Given the description of an element on the screen output the (x, y) to click on. 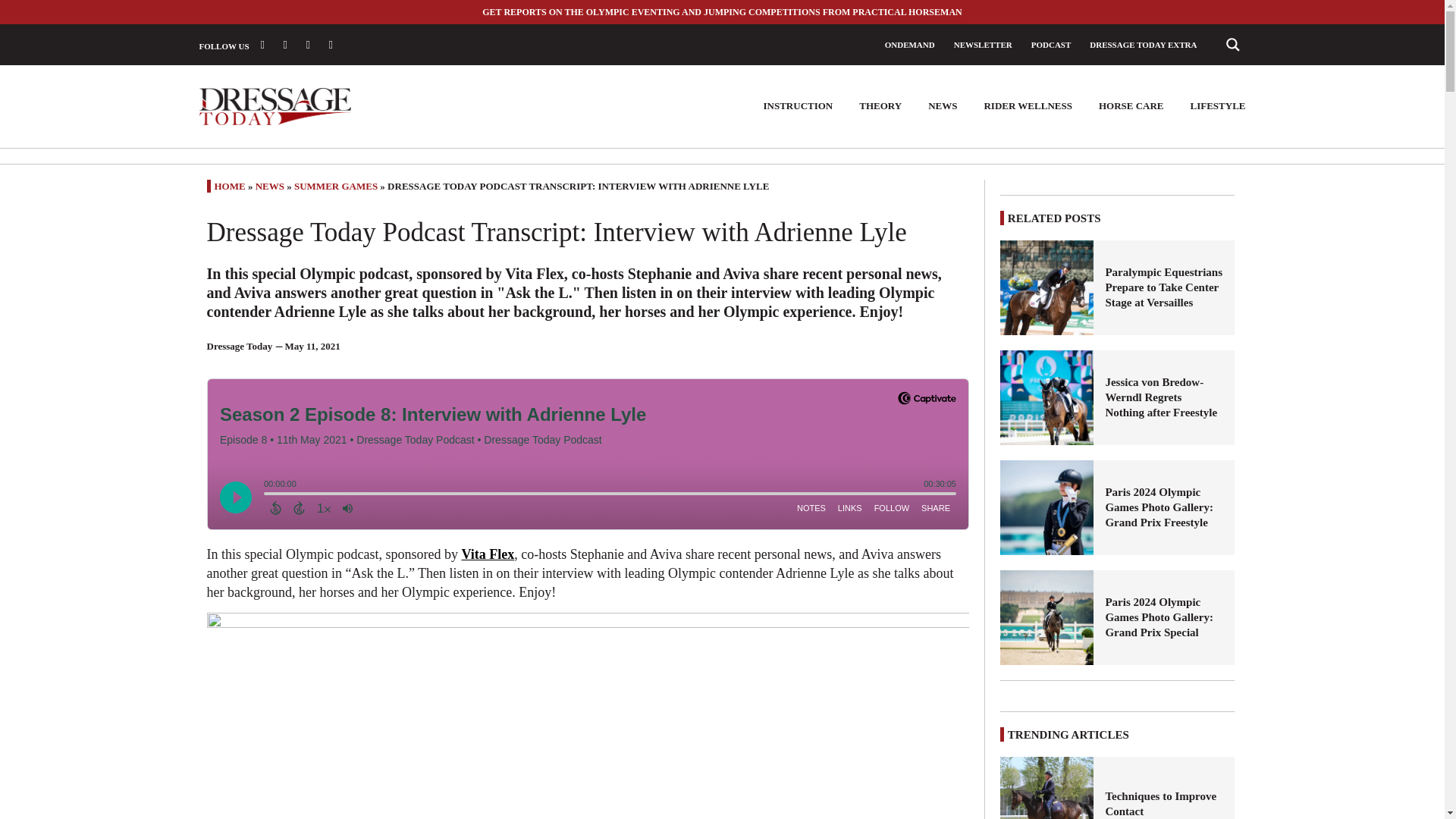
LIFESTYLE (1218, 105)
INSTRUCTION (797, 105)
Paris 2024 Olympic Games Photo Gallery: Grand Prix Freestyle (1047, 507)
Paris 2024 Olympic Games Photo Gallery: Grand Prix Special (1164, 616)
Jessica von Bredow-Werndl Regrets Nothing after Freestyle (1164, 397)
Techniques to Improve Contact (1047, 787)
RIDER WELLNESS (1027, 105)
PODCAST (1050, 44)
